Given the description of an element on the screen output the (x, y) to click on. 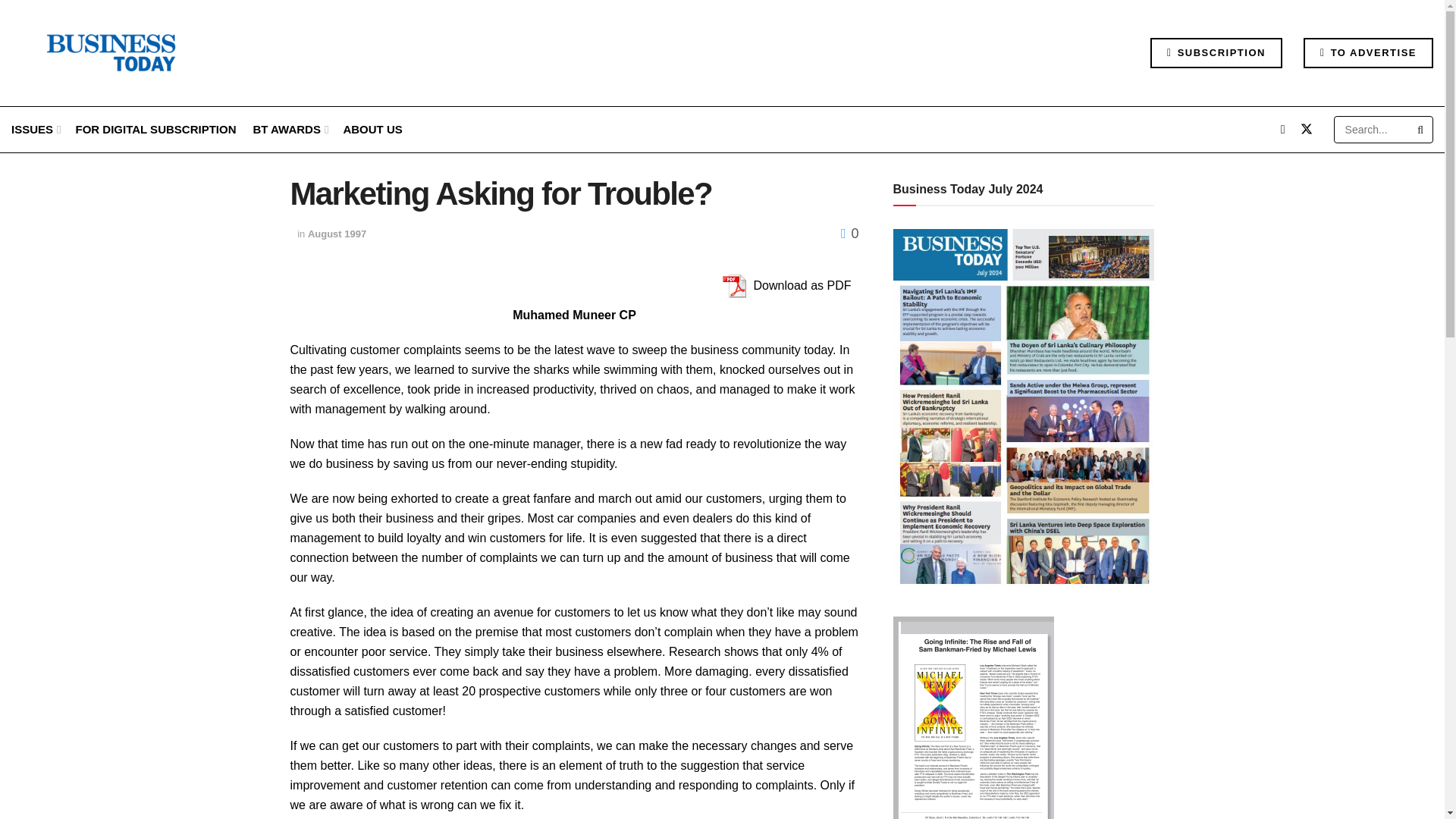
Download PDF (733, 286)
TO ADVERTISE (1367, 52)
SUBSCRIPTION (1216, 52)
ISSUES (35, 129)
